Given the description of an element on the screen output the (x, y) to click on. 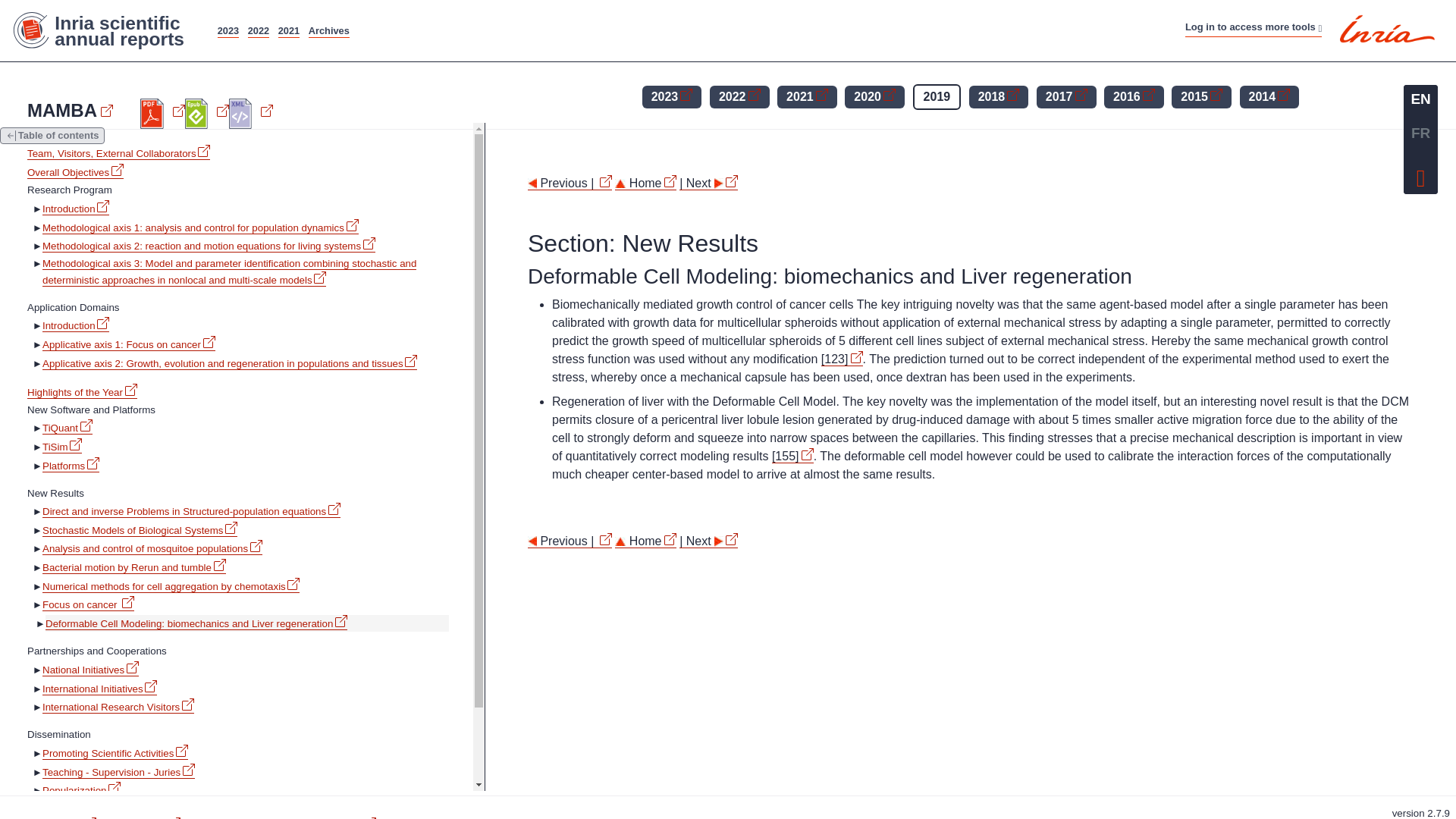
Accessibility (1420, 175)
2022 (258, 30)
2021 annual reports (288, 30)
All archives (328, 30)
 FR: Use french language (1420, 133)
2021 (288, 30)
Site map (686, 23)
Current language en (1420, 99)
Main content (625, 23)
Archives (328, 30)
MAMBA (70, 110)
2023 (227, 30)
Home page - Inria scientific annual reports (106, 30)
2022 annual reports (258, 30)
Accessibility (747, 23)
